Given the description of an element on the screen output the (x, y) to click on. 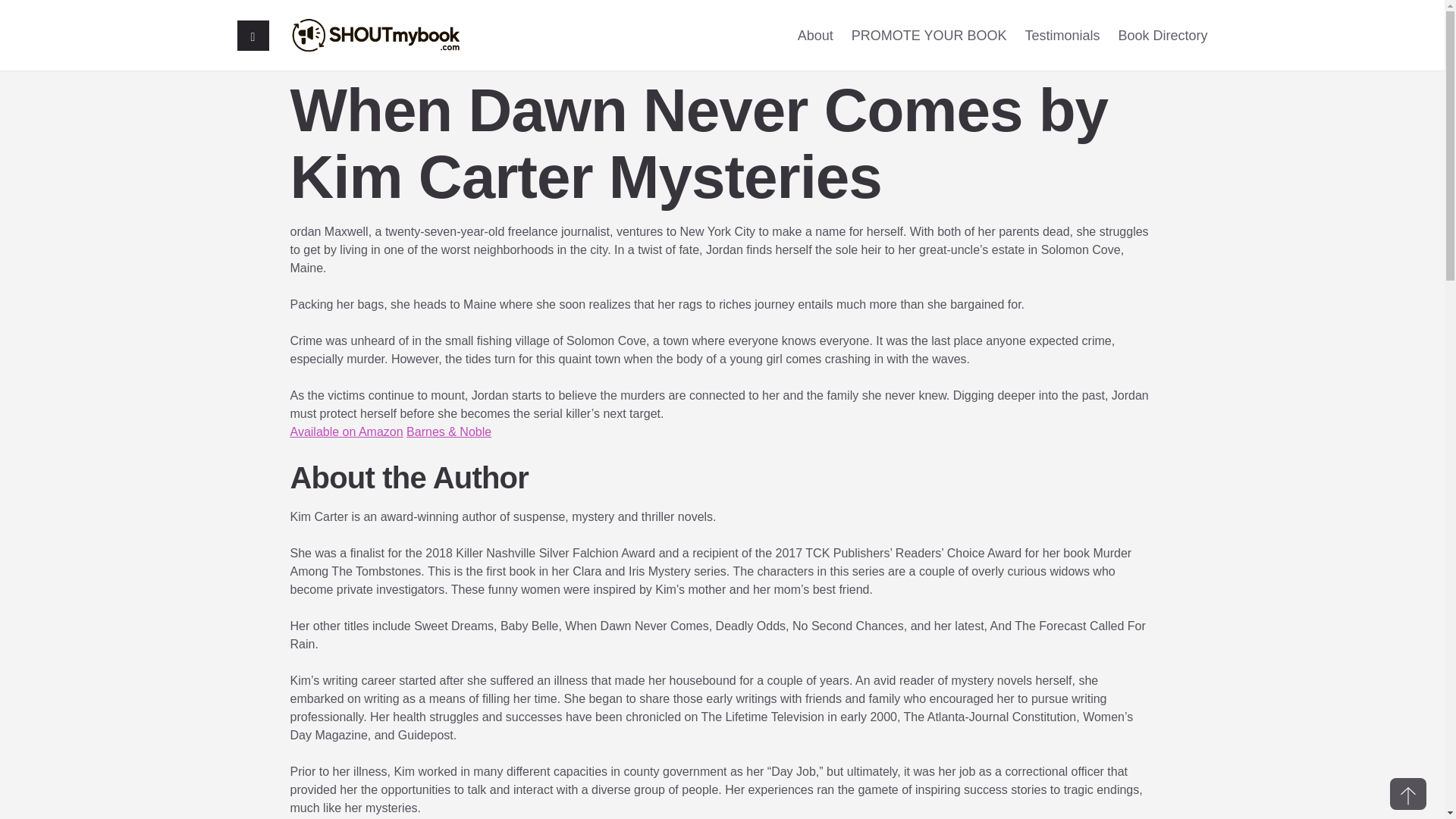
PROMOTE YOUR BOOK (929, 35)
About (814, 35)
Testimonials (1062, 35)
Available on Amazon (346, 431)
Book Directory (1162, 35)
